Given the description of an element on the screen output the (x, y) to click on. 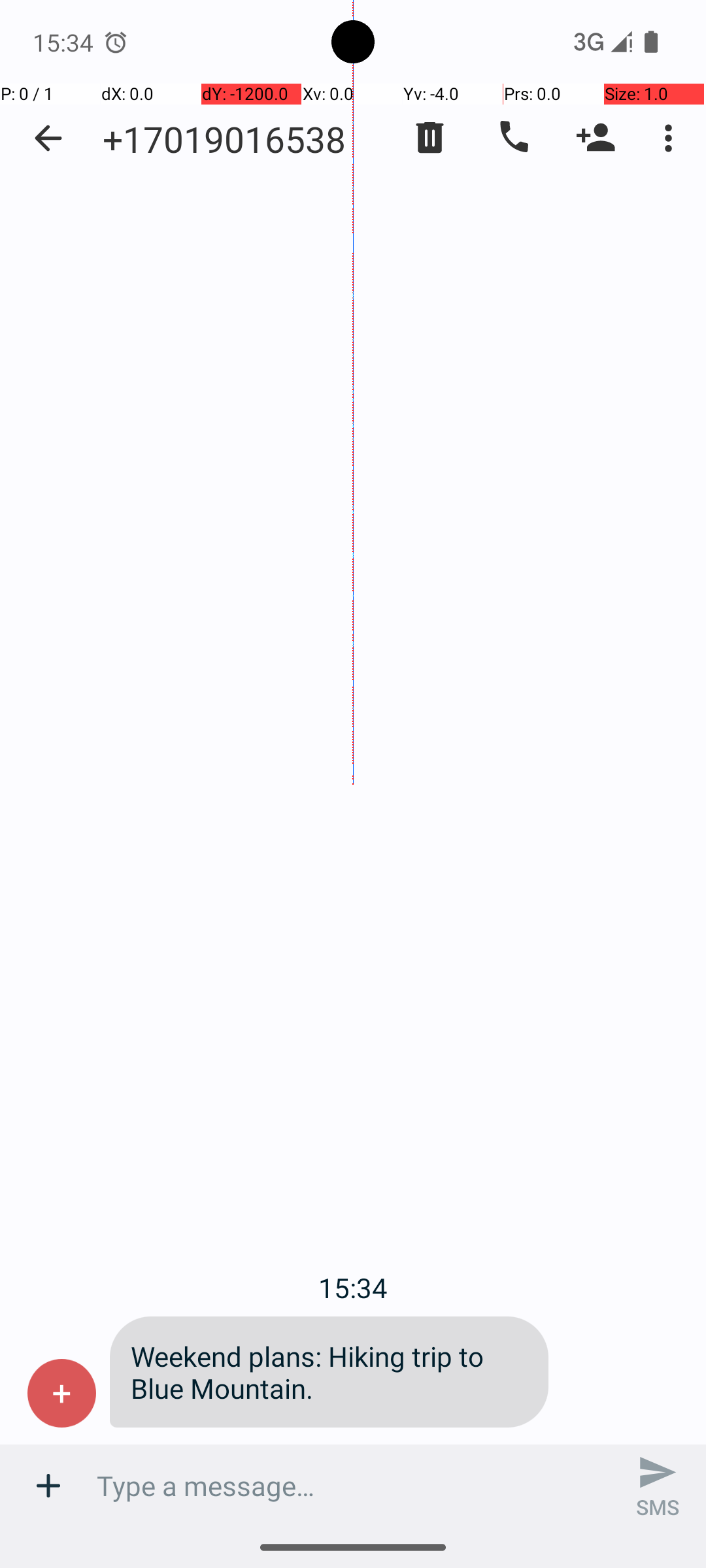
+17019016538 Element type: android.widget.TextView (223, 138)
Weekend plans: Hiking trip to Blue Mountain. Element type: android.widget.TextView (328, 1371)
